Given the description of an element on the screen output the (x, y) to click on. 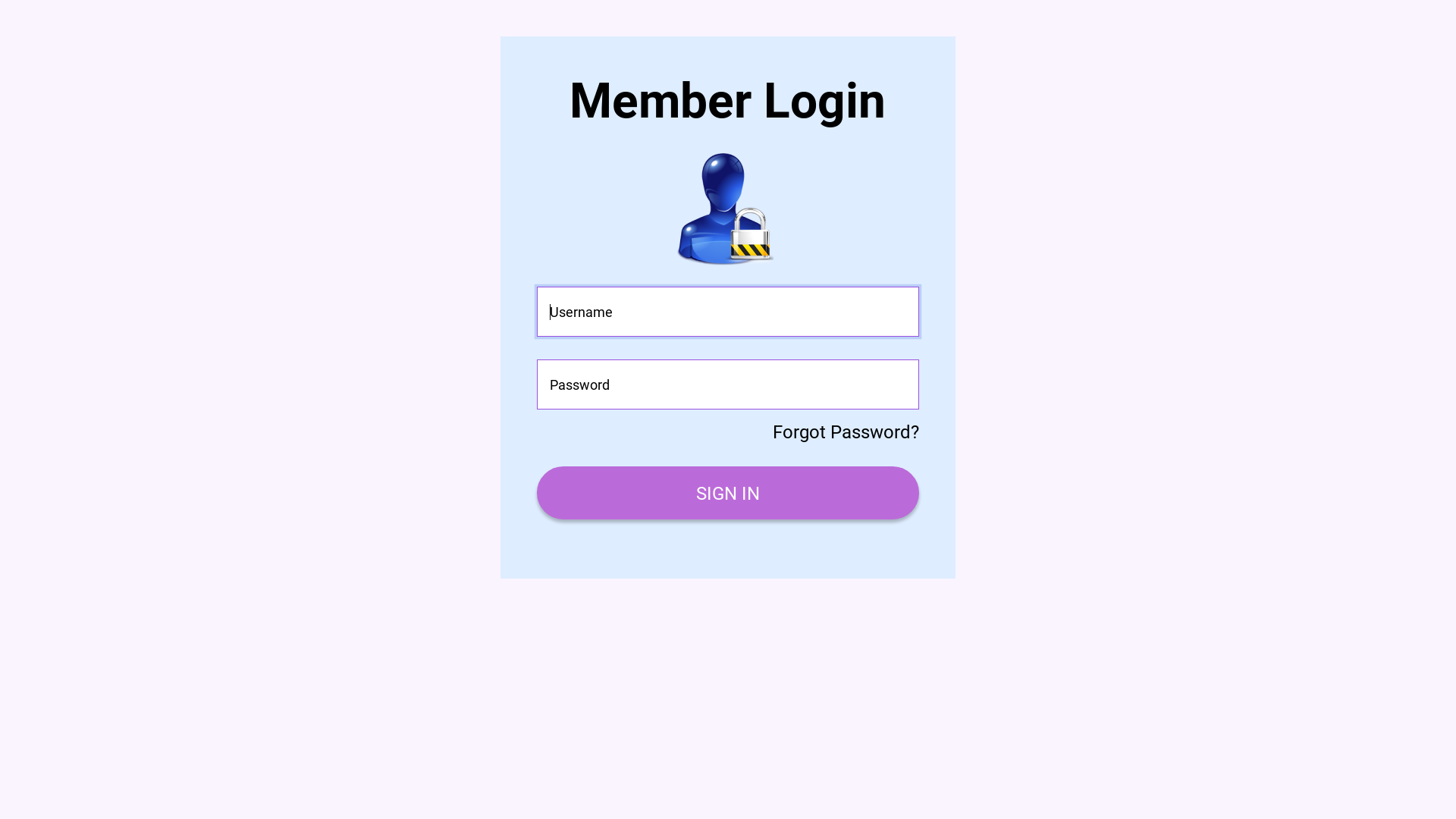
Forgot Password? Element type: text (845, 431)
SIGN IN Element type: text (727, 492)
